Given the description of an element on the screen output the (x, y) to click on. 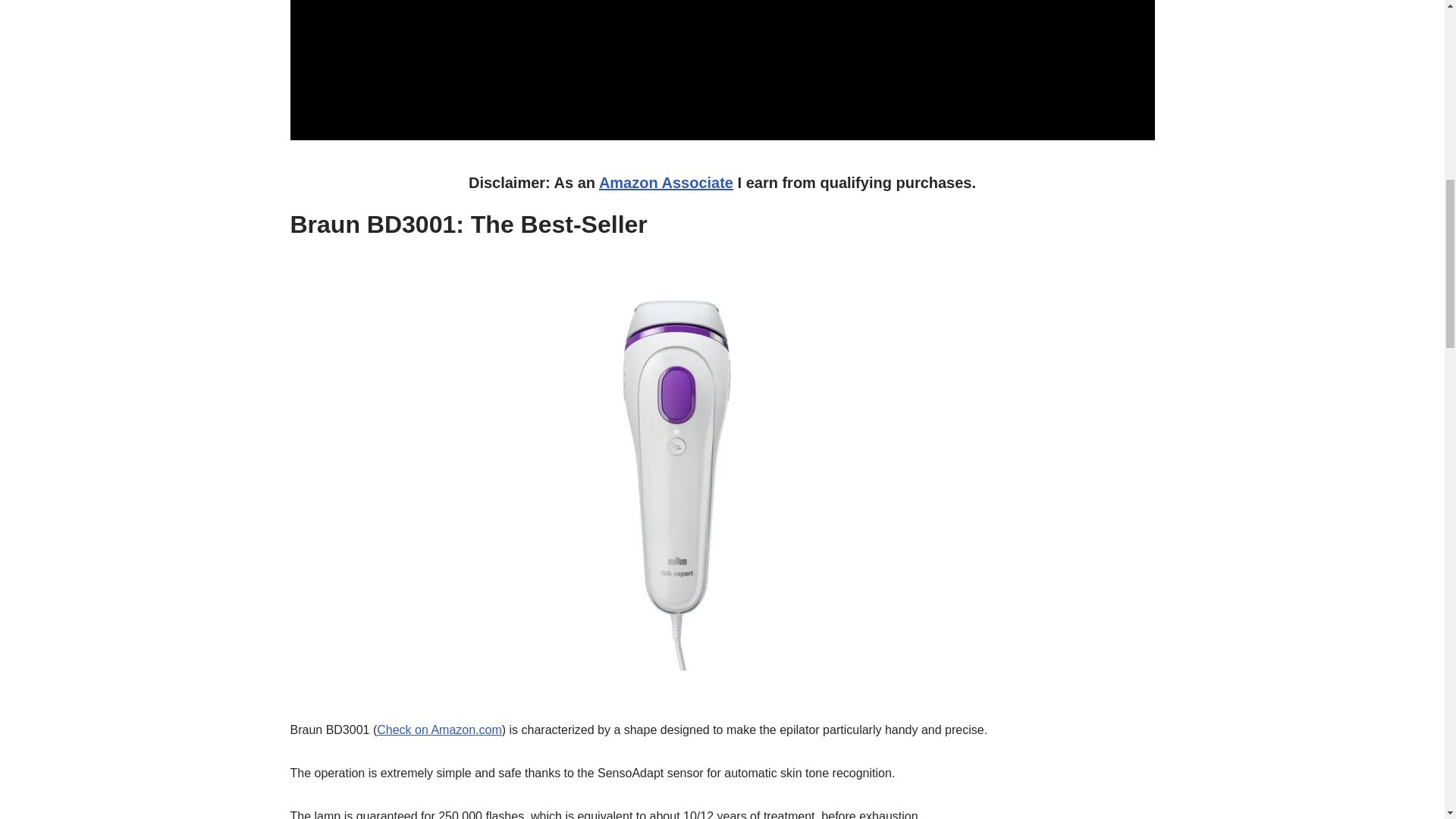
Amazon Associate (665, 182)
Check on Amazon.com (439, 729)
